Given the description of an element on the screen output the (x, y) to click on. 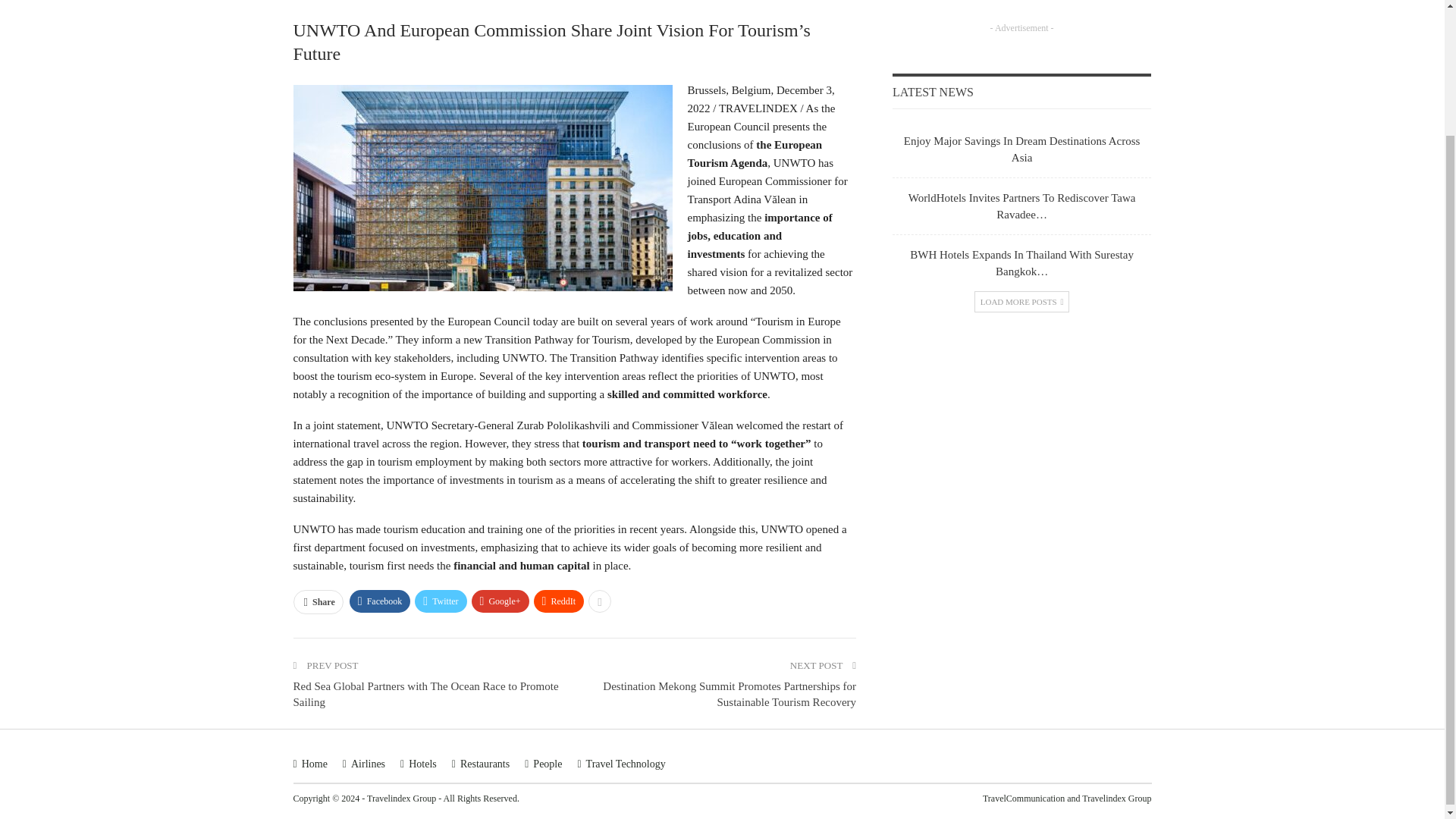
Load More Posts (1022, 301)
